Given the description of an element on the screen output the (x, y) to click on. 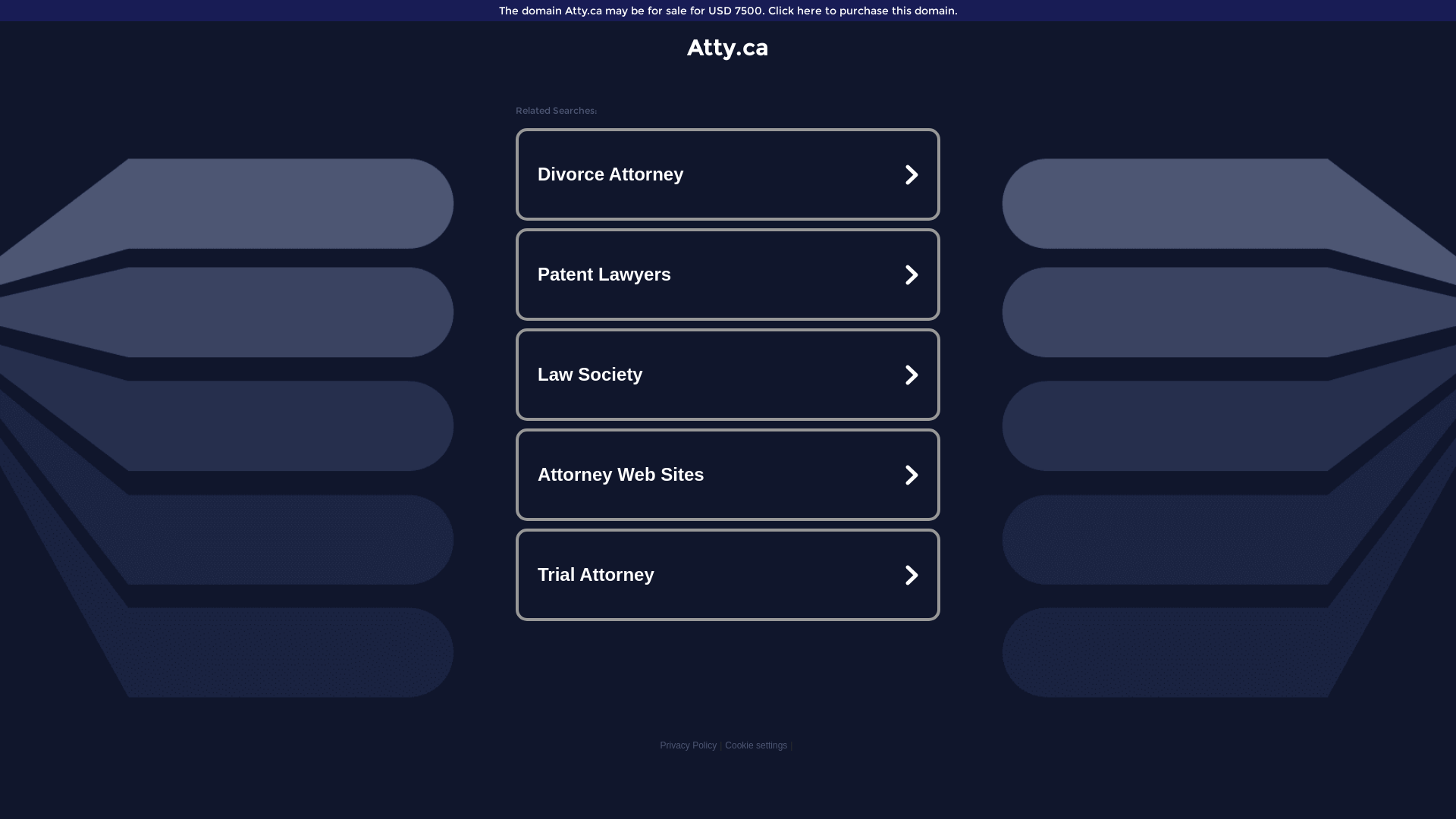
Trial Attorney Element type: text (727, 574)
Attorney Web Sites Element type: text (727, 474)
Law Society Element type: text (727, 374)
Divorce Attorney Element type: text (727, 174)
Cookie settings Element type: text (755, 745)
Patent Lawyers Element type: text (727, 274)
Privacy Policy Element type: text (687, 745)
Atty.ca Element type: text (727, 47)
